Given the description of an element on the screen output the (x, y) to click on. 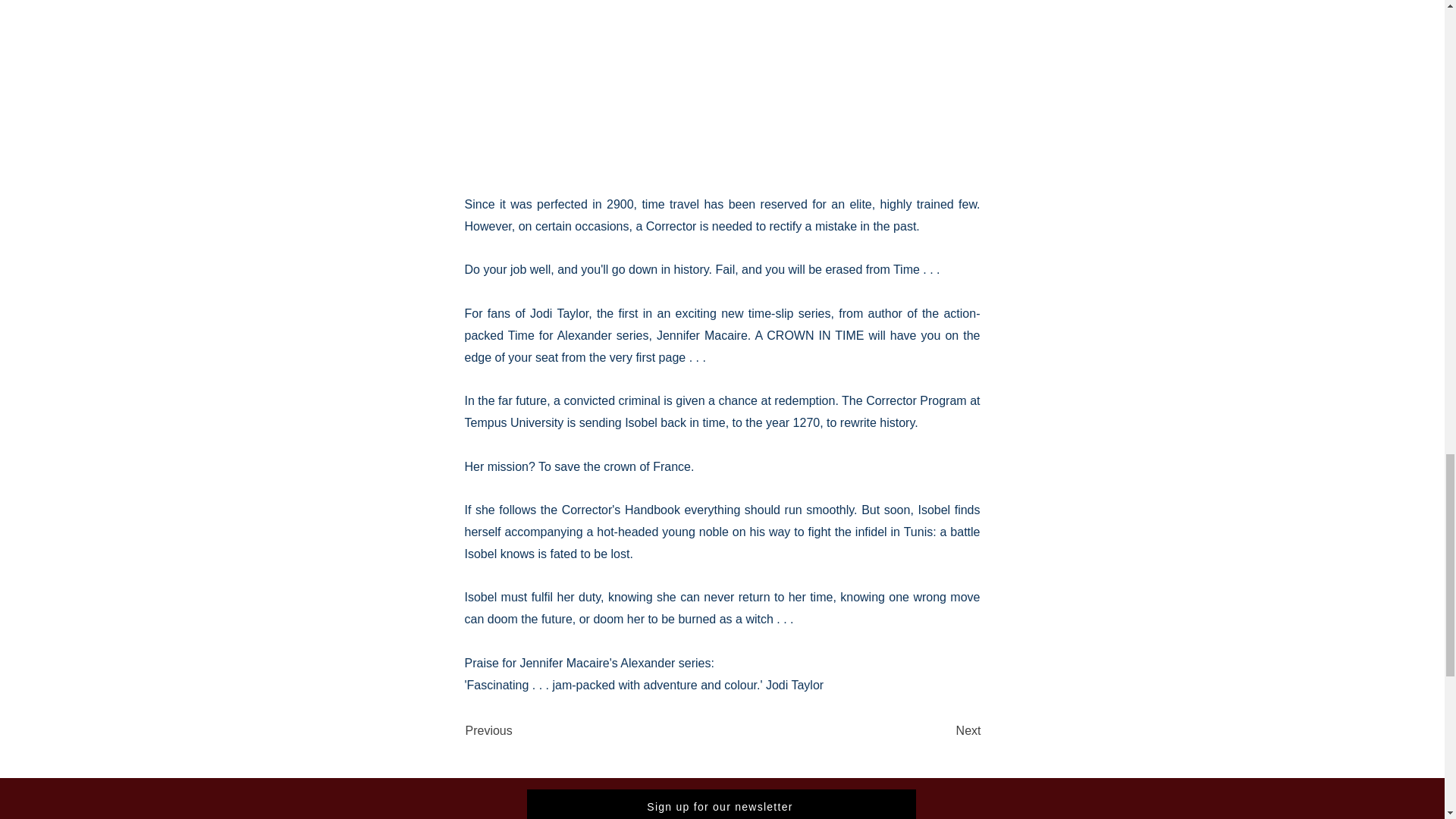
Previous (515, 730)
Macaire HTT 2.jpg (722, 86)
Next (943, 730)
